Given the description of an element on the screen output the (x, y) to click on. 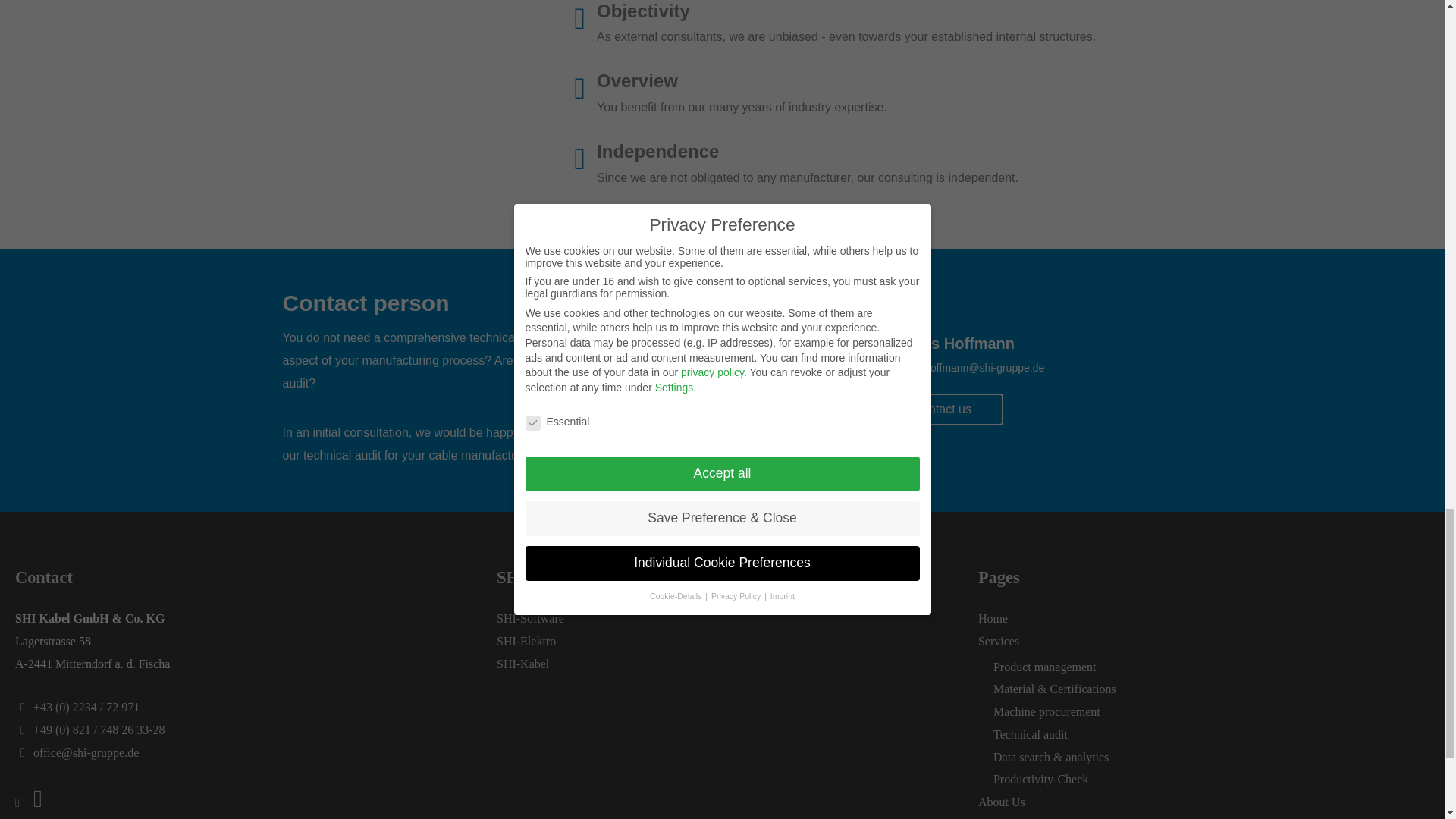
SHI-Kabel (522, 663)
Thomas-Hoffmann-SHI (809, 382)
Privacy Policy (1013, 818)
Product management (1044, 666)
Services (998, 640)
Productivity-Check (1039, 779)
Home (992, 617)
SHI-Elektro (526, 640)
Technical audit (1029, 734)
Machine procurement (1046, 711)
